Given the description of an element on the screen output the (x, y) to click on. 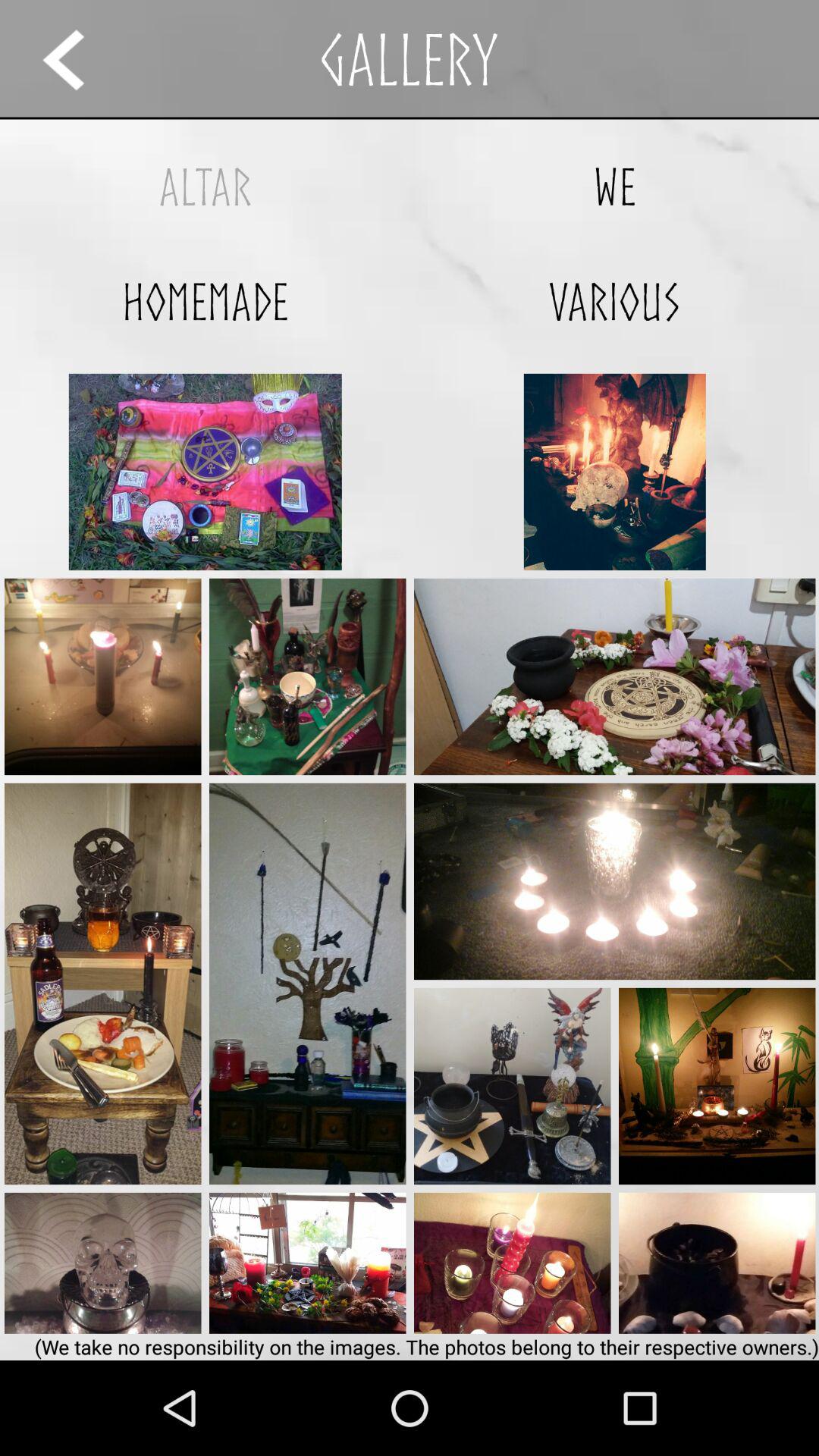
turn on the icon to the right of the homemade icon (614, 301)
